Given the description of an element on the screen output the (x, y) to click on. 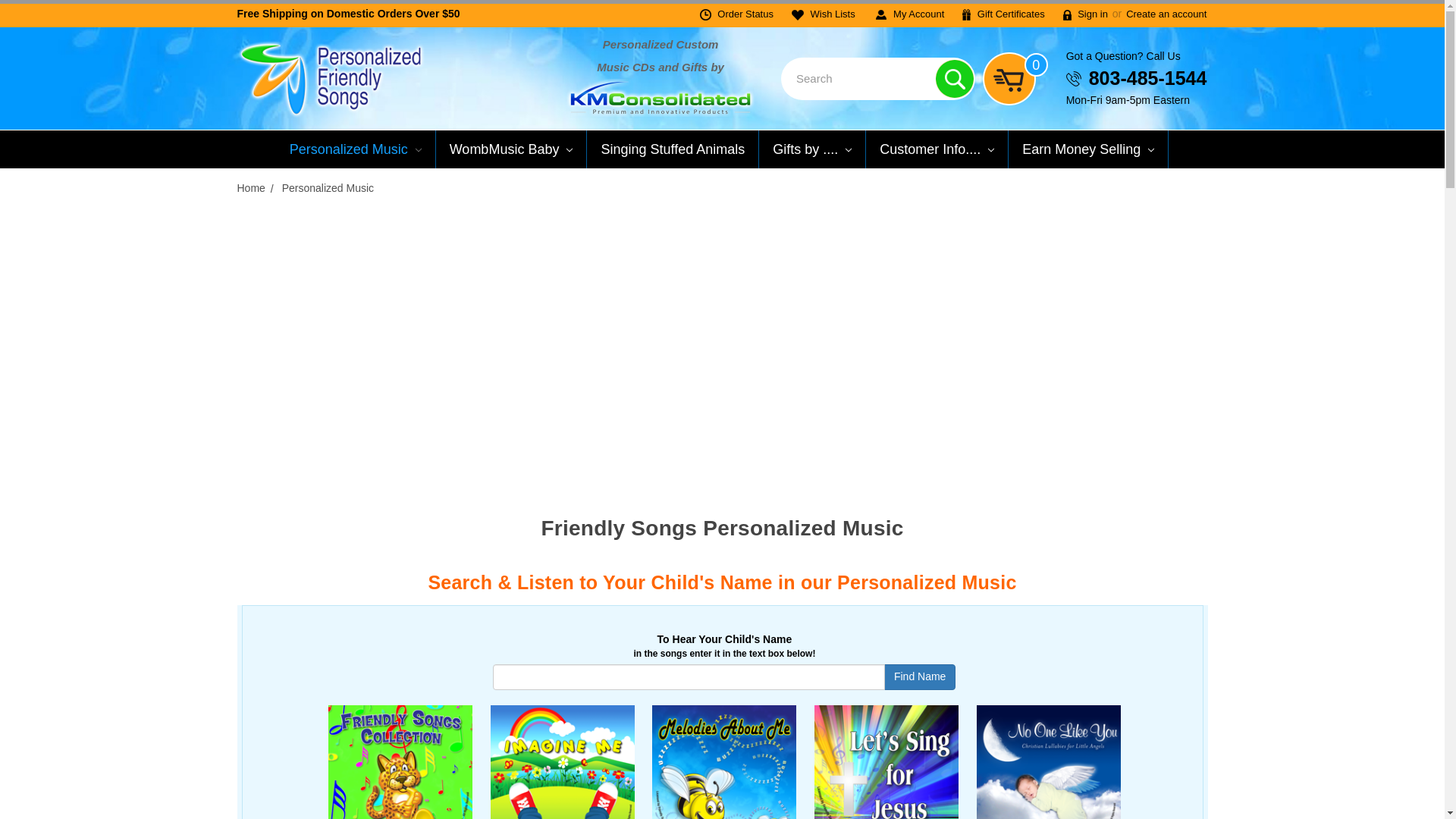
My Account (909, 14)
Singing Stuffed Animals (672, 149)
Create an account (1166, 14)
Shipping Information (347, 13)
Wish Lists (824, 14)
0 (1015, 78)
Gifts by .... (812, 149)
Gift Certificates (1002, 14)
KMConsolidated (660, 96)
WombMusic Baby (511, 149)
Personalized Music (355, 149)
Personalized Friendly Songs (329, 78)
Sign in (1085, 14)
Order Status (736, 14)
